Given the description of an element on the screen output the (x, y) to click on. 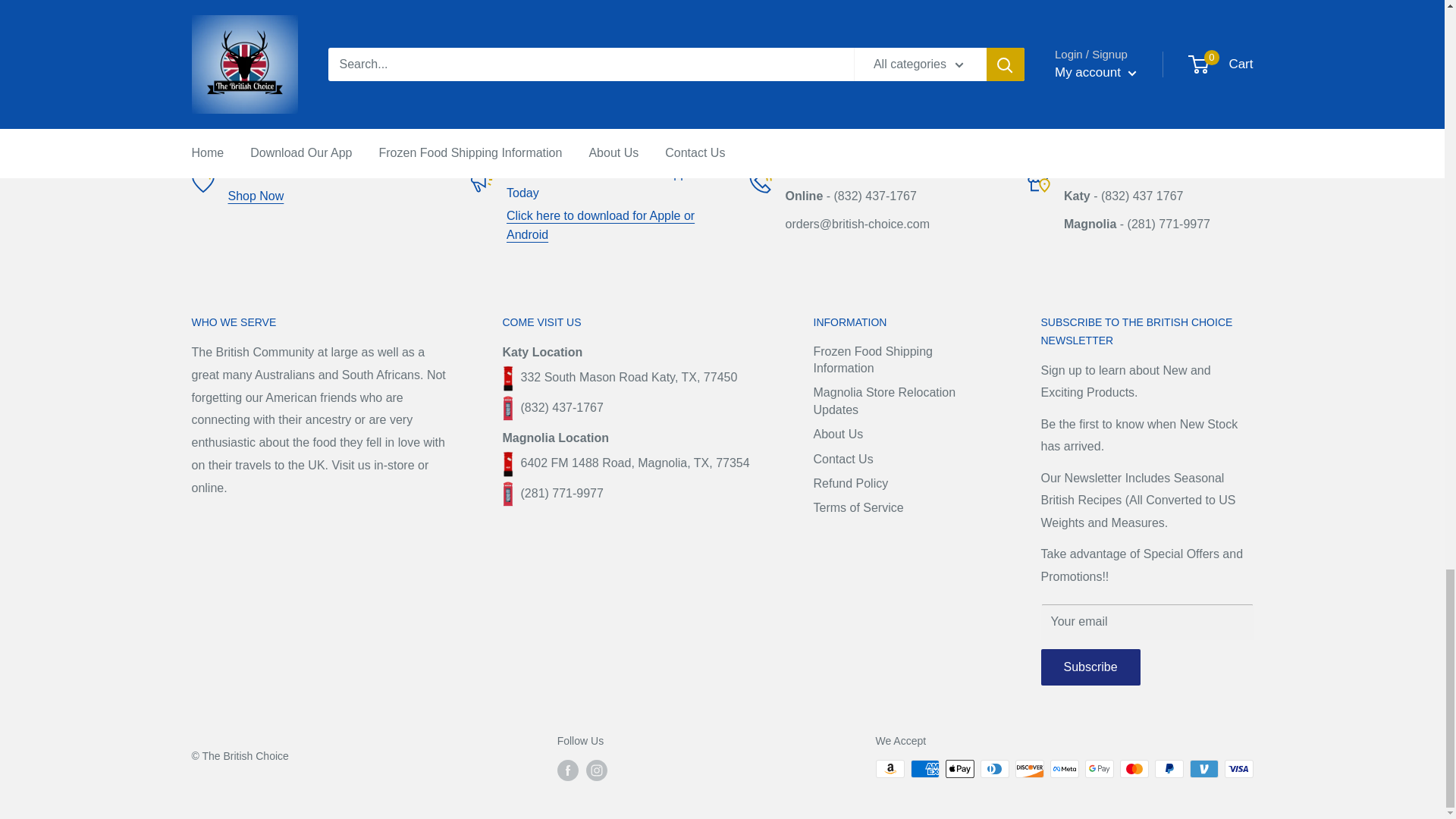
All Collections (255, 195)
Download The British Choice App (600, 225)
